Given the description of an element on the screen output the (x, y) to click on. 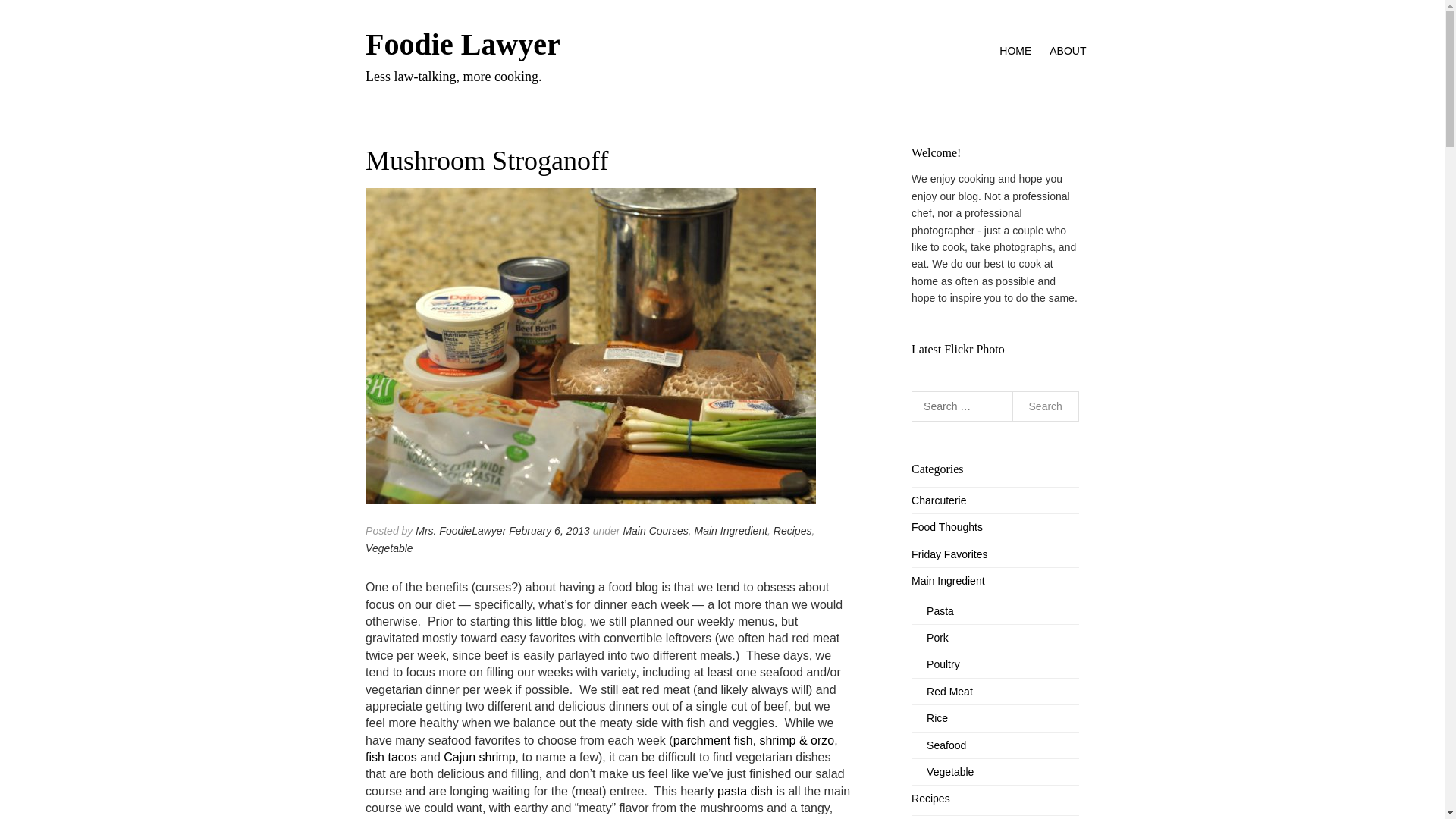
Seafood (938, 745)
Charcuterie (938, 500)
Cajun shrimp (479, 757)
Food Thoughts (946, 526)
Search (1044, 406)
Search (1044, 406)
HOME (1015, 51)
Vegetable (389, 548)
February 6, 2013 (548, 530)
Main Ingredient (948, 580)
Main Courses (655, 530)
Pasta (932, 610)
Recipes (930, 798)
Mushroom Stroganoff (590, 354)
Foodie Lawyer (462, 44)
